Given the description of an element on the screen output the (x, y) to click on. 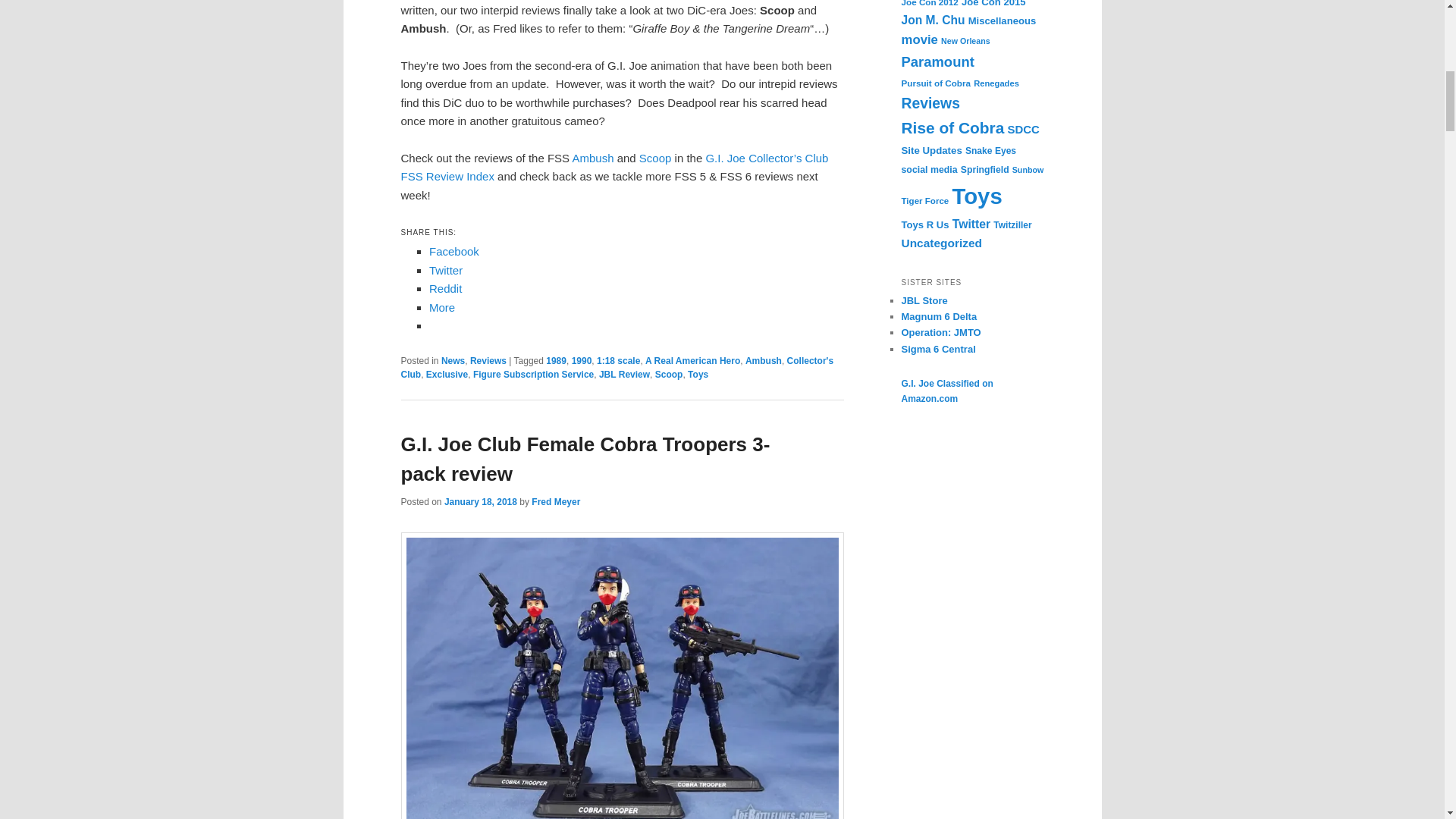
2:54 PM (480, 501)
View all posts by Fred Meyer (555, 501)
Click to share on Facebook (454, 250)
Click to share on Reddit (445, 287)
Click to share on Twitter (446, 269)
